Given the description of an element on the screen output the (x, y) to click on. 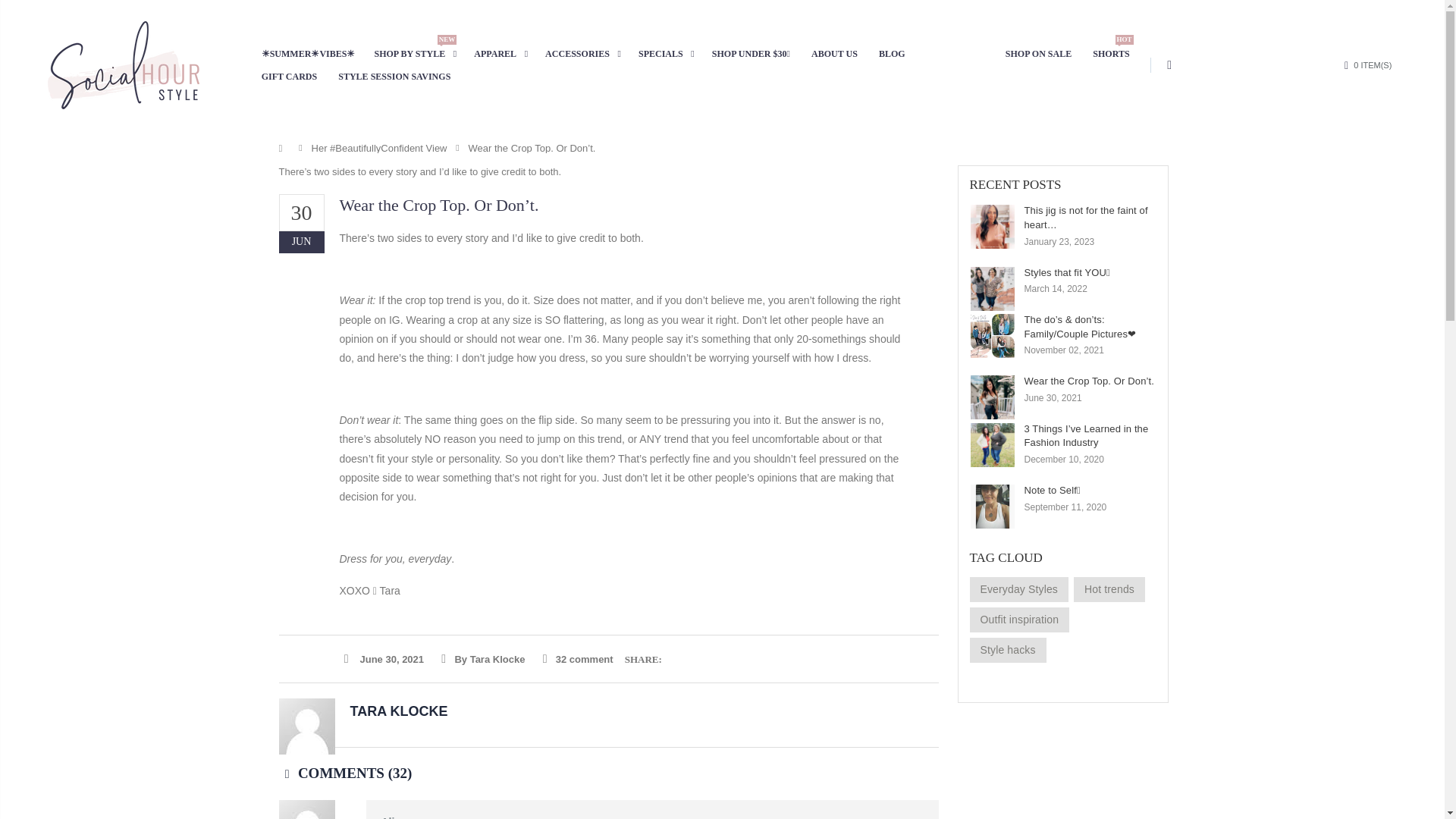
SPECIALS (670, 53)
ABOUT US (839, 53)
APPAREL (504, 53)
Back to the frontpage (284, 148)
GIFT CARDS (295, 76)
BLOG (898, 53)
ACCESSORIES (419, 53)
Show articles tagged Outfit inspiration (586, 53)
SHOP ON SALE (1018, 619)
Show articles tagged Style hacks (1116, 53)
Show articles tagged Everyday Styles (1044, 53)
Show articles tagged Hot trends (1007, 650)
